Given the description of an element on the screen output the (x, y) to click on. 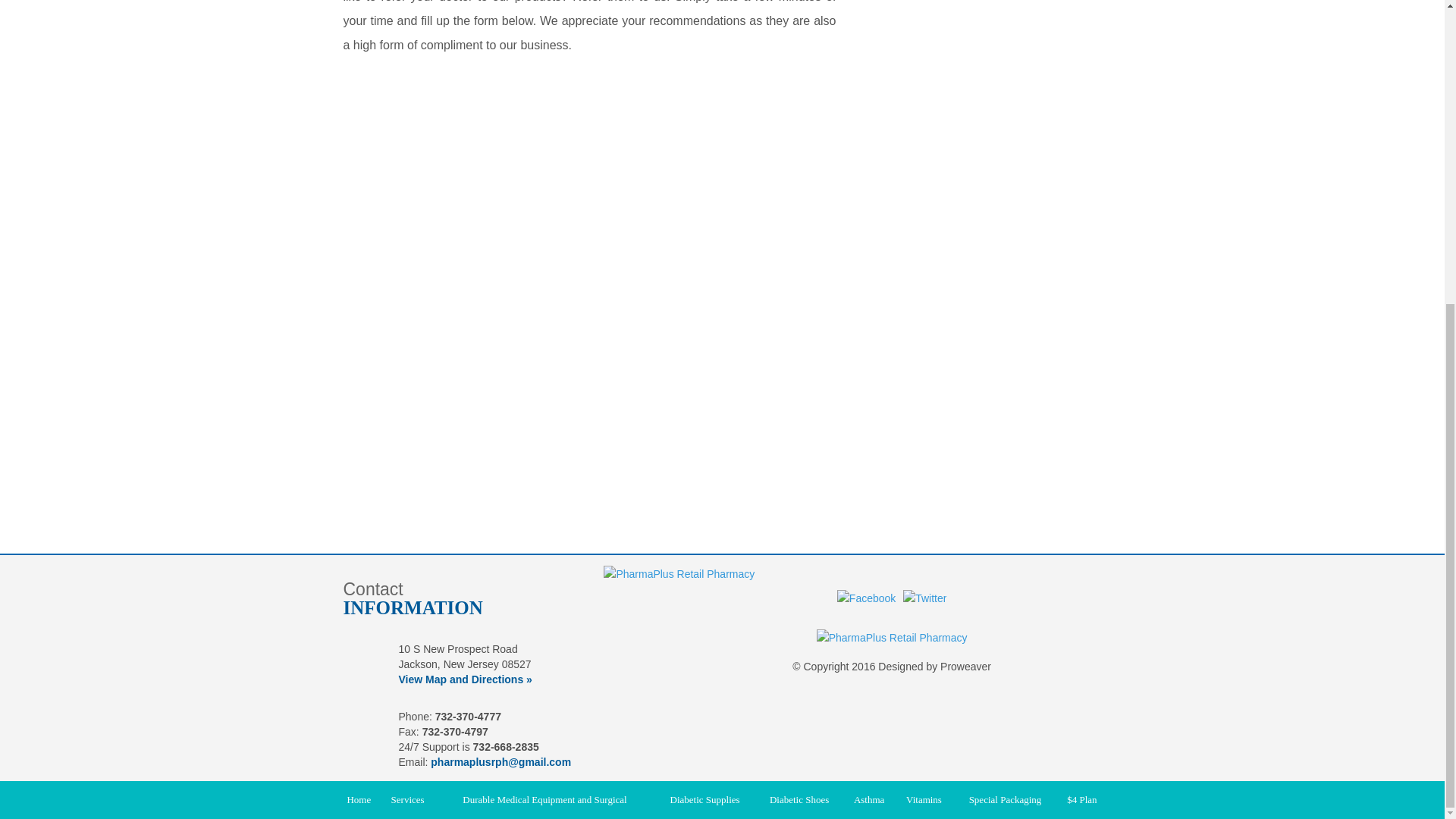
Symptom Checker (979, 11)
New Patient Form (979, 168)
Medication (979, 56)
Send Your Referral (979, 112)
